Given the description of an element on the screen output the (x, y) to click on. 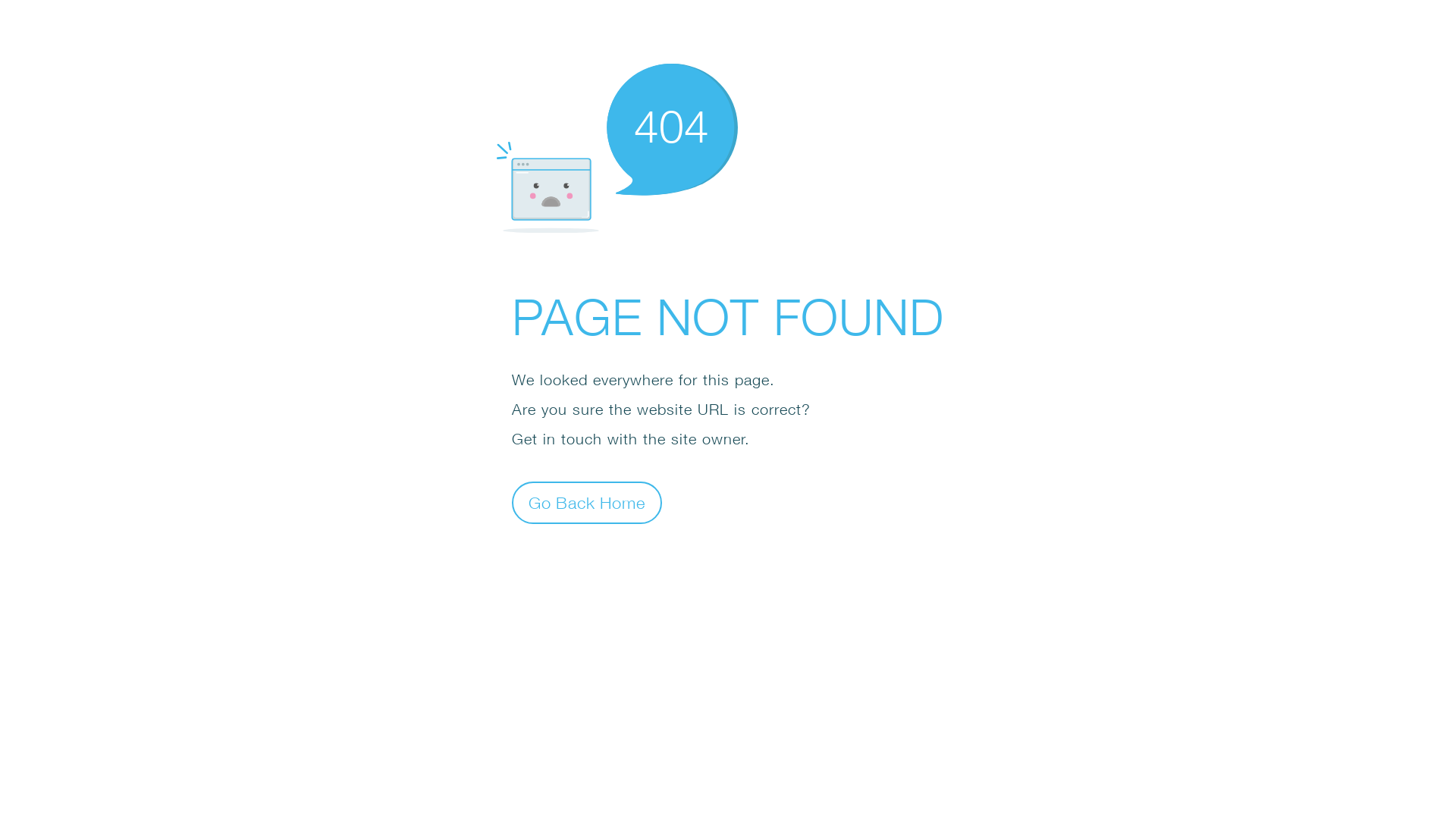
Go Back Home Element type: text (586, 502)
